Given the description of an element on the screen output the (x, y) to click on. 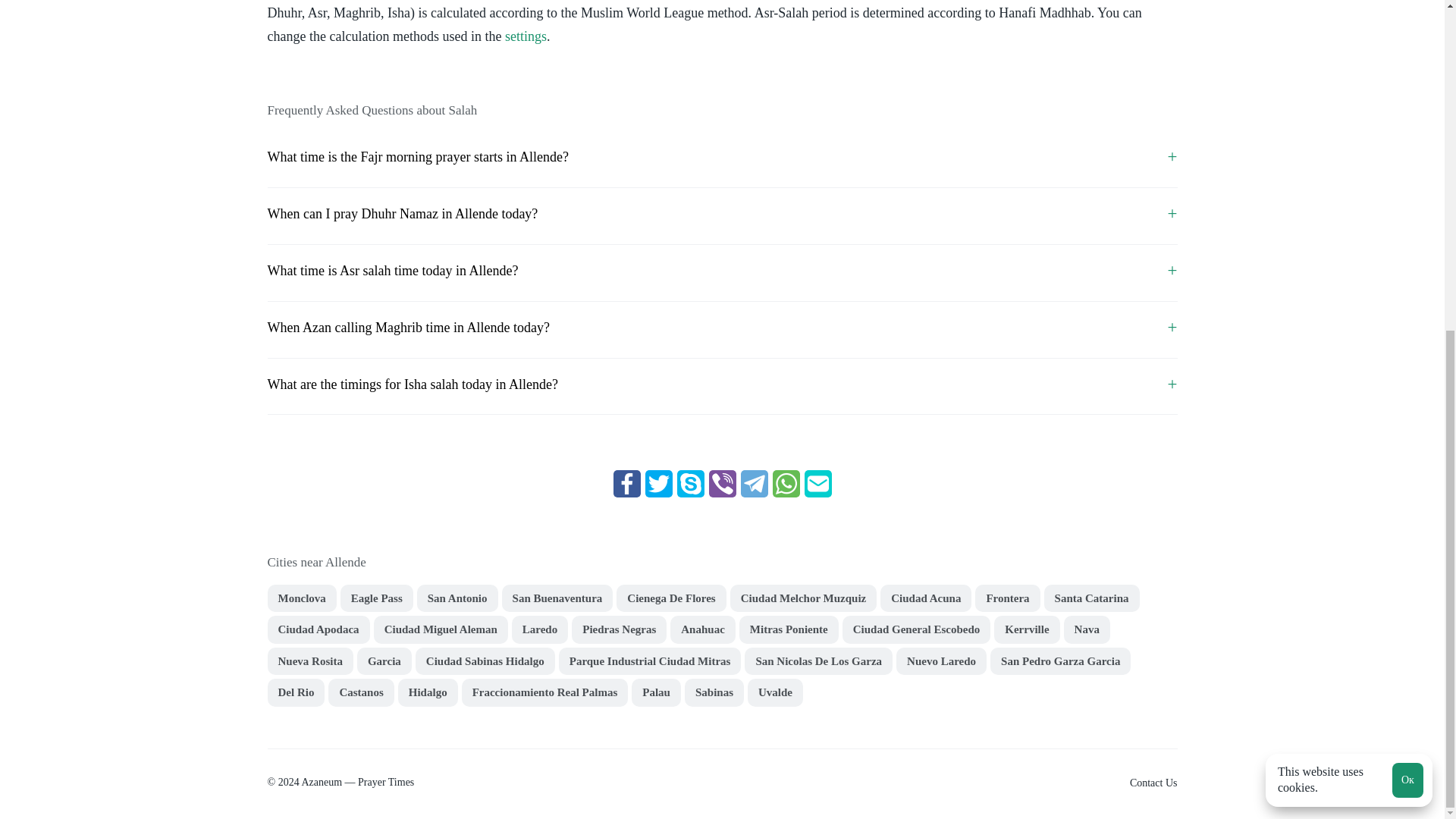
Prayer Times in Eagle Pass (376, 598)
Email (817, 483)
Prayer Times in San Buenaventura (557, 598)
Prayer Times in Ciudad Miguel Aleman (441, 629)
Telegram (753, 483)
Whatsapp (785, 483)
Prayer Times in Ciudad Apodaca (317, 629)
Prayer Times in San Antonio (456, 598)
Prayer Times in Santa Catarina (1091, 598)
Prayer Times in Ciudad Melchor Muzquiz (803, 598)
